Given the description of an element on the screen output the (x, y) to click on. 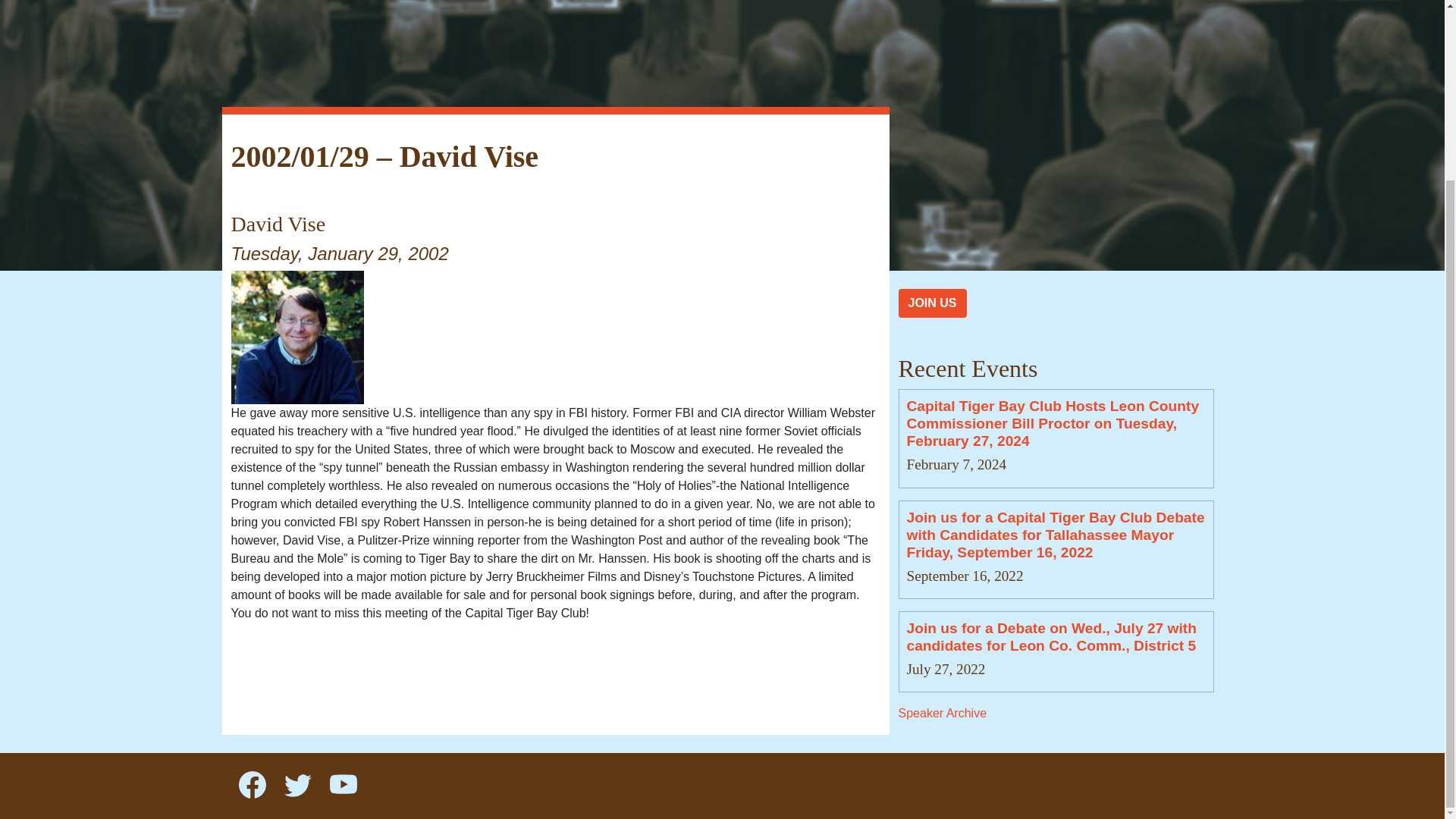
Speaker Archive (942, 712)
JOIN US (932, 303)
